Given the description of an element on the screen output the (x, y) to click on. 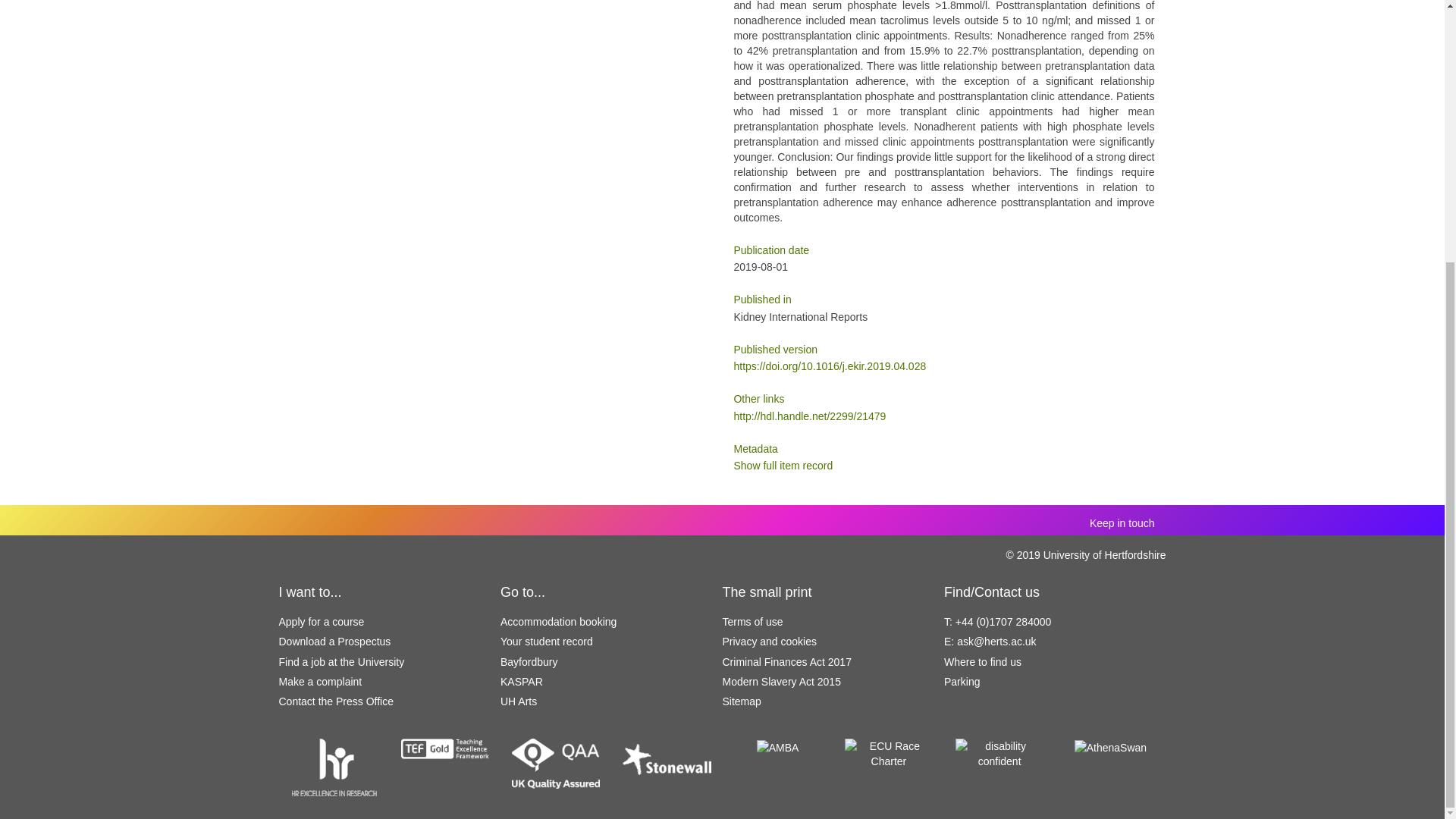
Contact the Press Office (336, 701)
Download a Prospectus (335, 641)
Find a job at the University (341, 662)
Criminal Finances Act 2017 (786, 662)
Accommodation booking (557, 621)
Apply for a course (322, 621)
Show full item record (782, 465)
KASPAR (521, 681)
Terms of use (752, 621)
Your student record (546, 641)
